Given the description of an element on the screen output the (x, y) to click on. 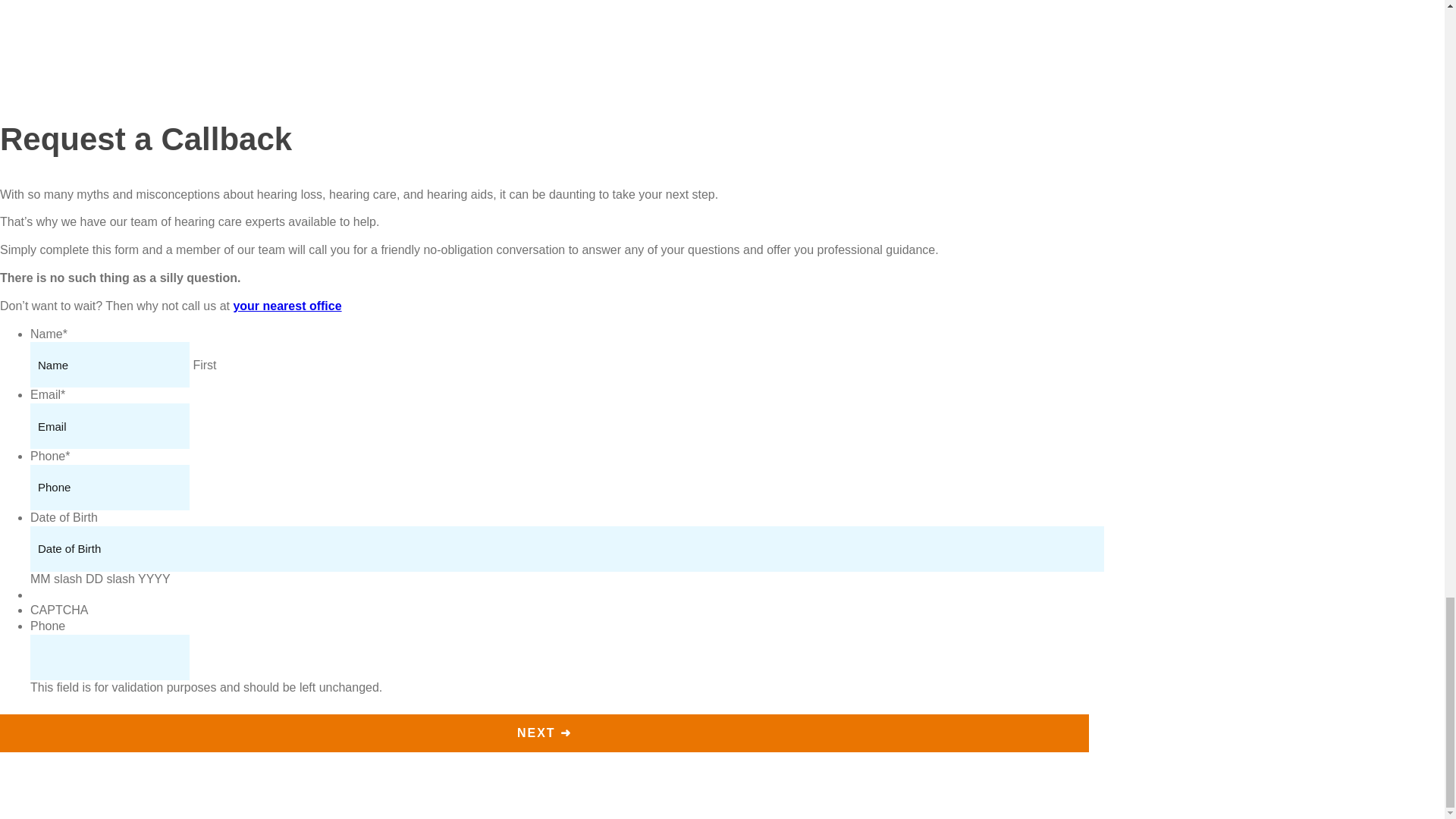
your nearest office (286, 305)
